Given the description of an element on the screen output the (x, y) to click on. 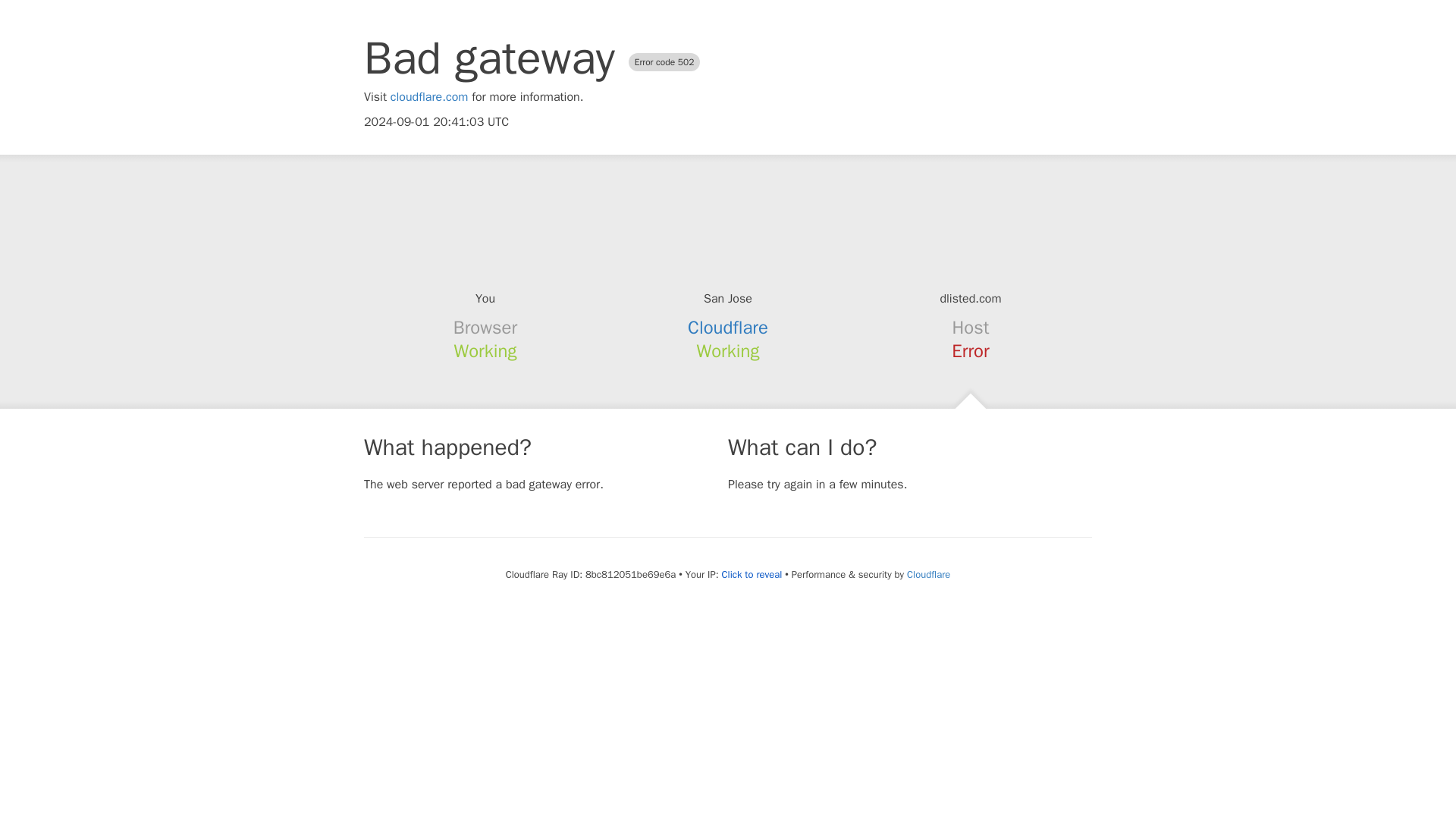
Click to reveal (750, 574)
cloudflare.com (429, 96)
Cloudflare (928, 574)
Cloudflare (727, 327)
